Given the description of an element on the screen output the (x, y) to click on. 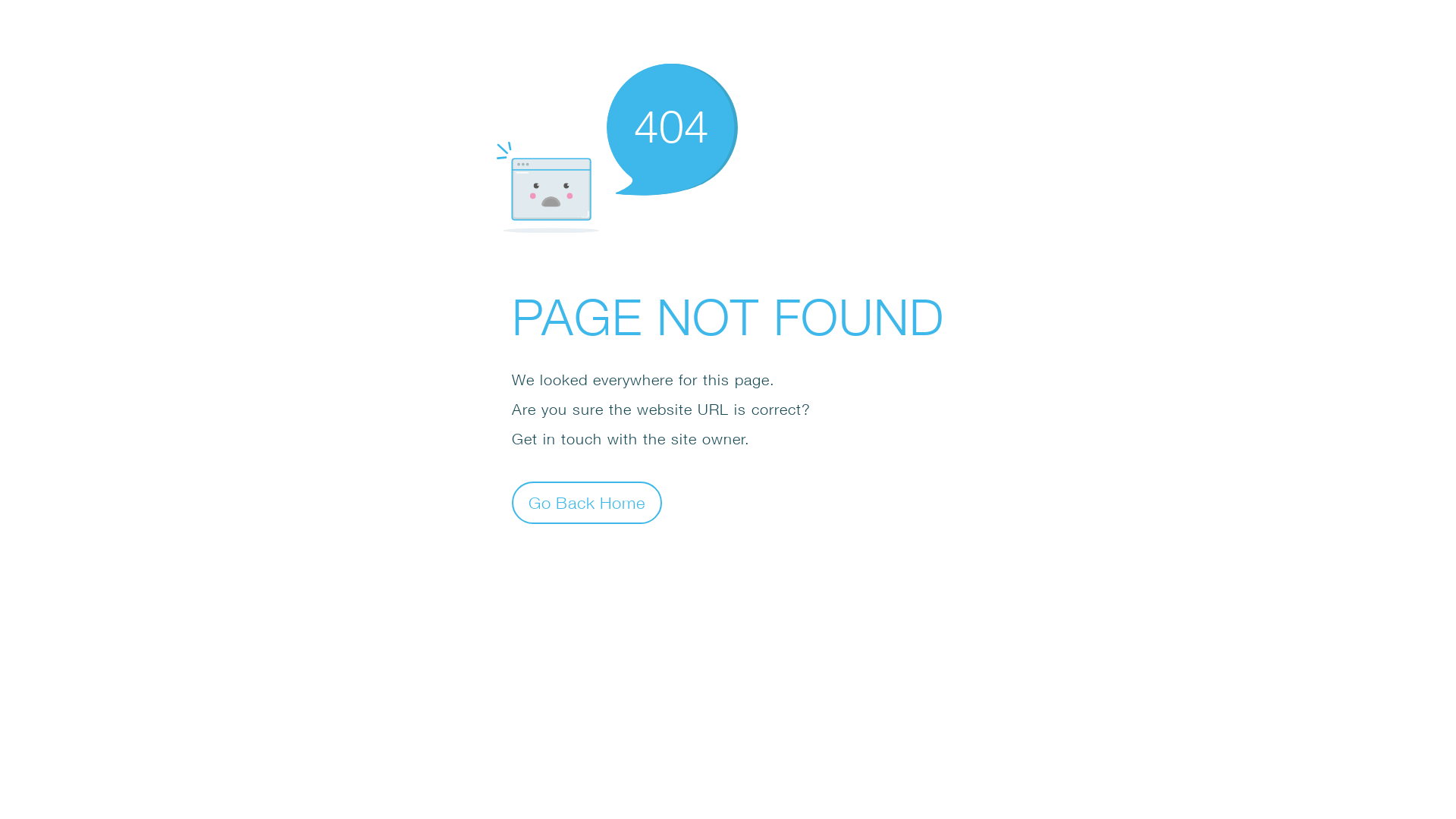
Go Back Home Element type: text (586, 502)
